Given the description of an element on the screen output the (x, y) to click on. 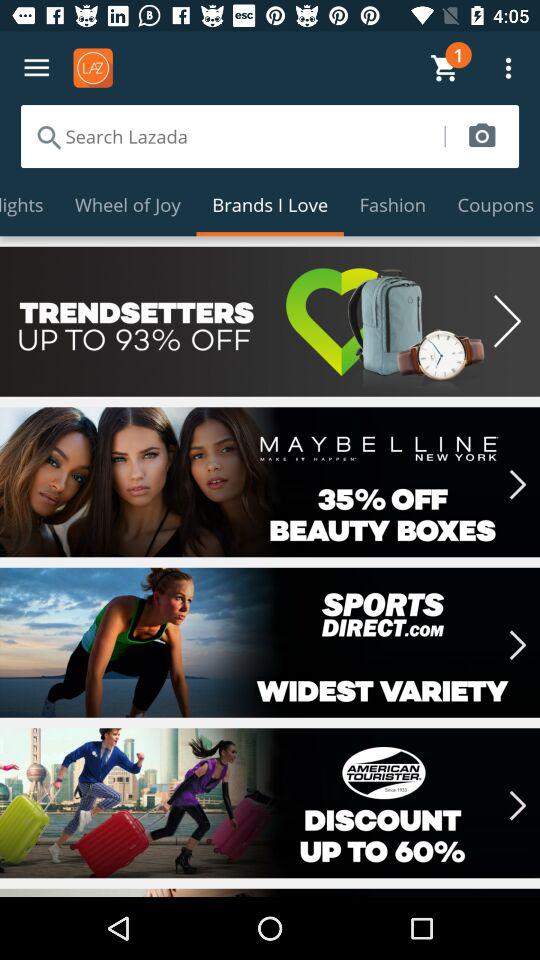
this icon is used to take a photo ie. camera icon (482, 136)
